Given the description of an element on the screen output the (x, y) to click on. 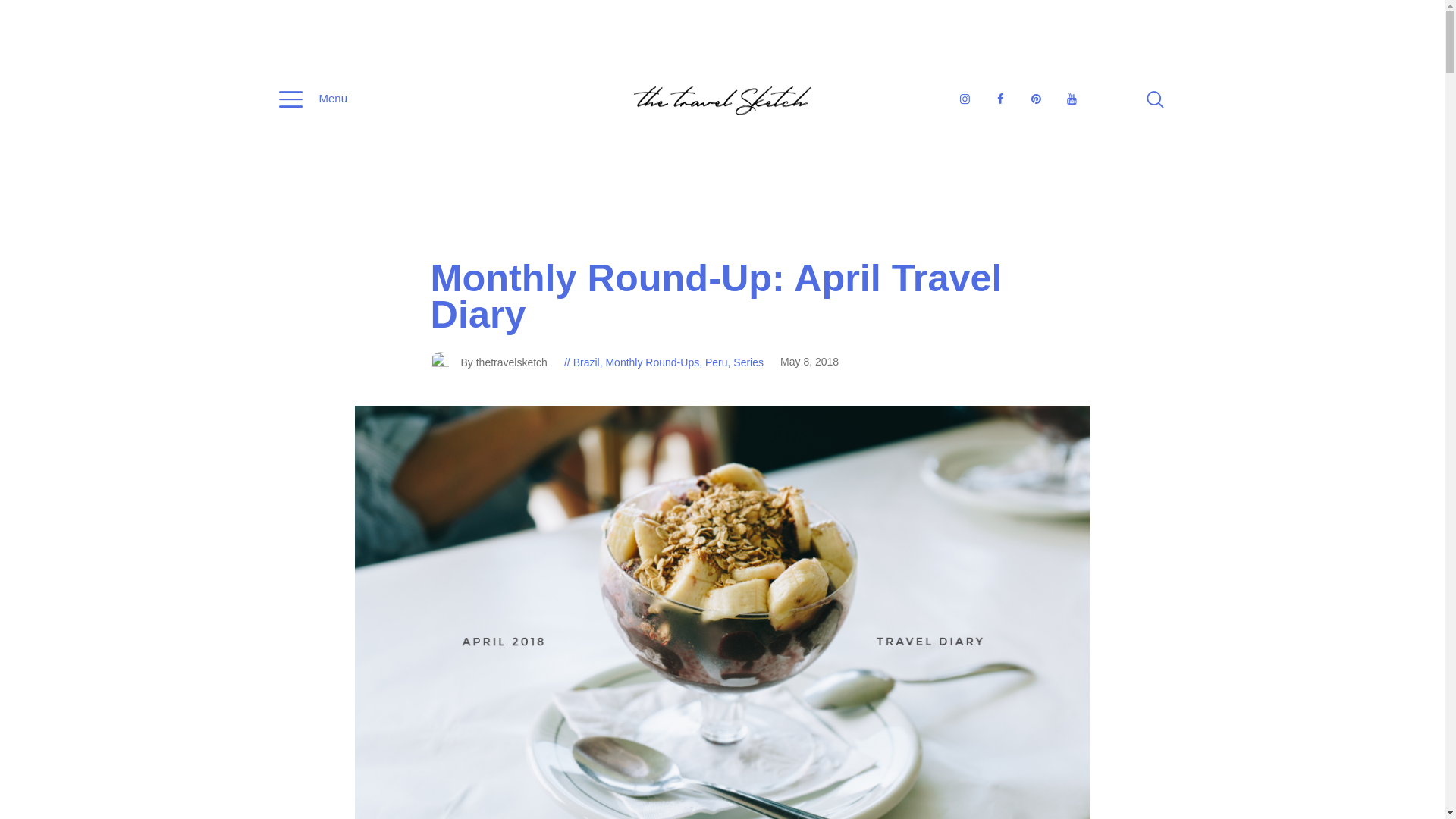
Menu (313, 100)
Monthly Round-Ups (651, 362)
Peru (716, 362)
Series (747, 362)
Brazil (586, 362)
By thetravelsketch (497, 362)
